Given the description of an element on the screen output the (x, y) to click on. 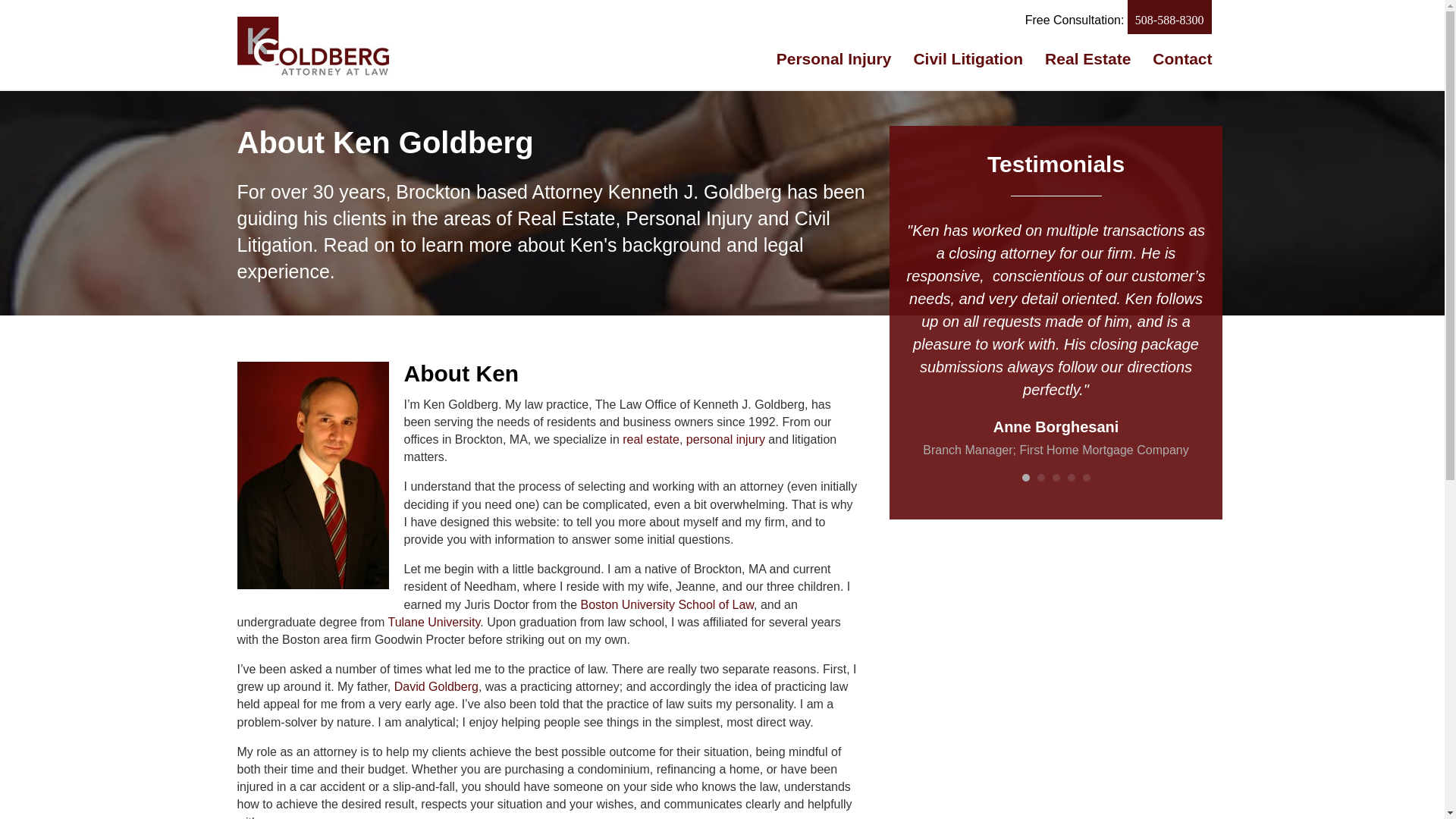
508-588-8300 (1168, 17)
Personal Injury (833, 58)
2 (1040, 477)
Civil Litigation (967, 58)
4 (1071, 477)
Contact (1182, 58)
5 (1086, 477)
1 (1025, 477)
David Goldberg (436, 686)
3 (1055, 477)
